Given the description of an element on the screen output the (x, y) to click on. 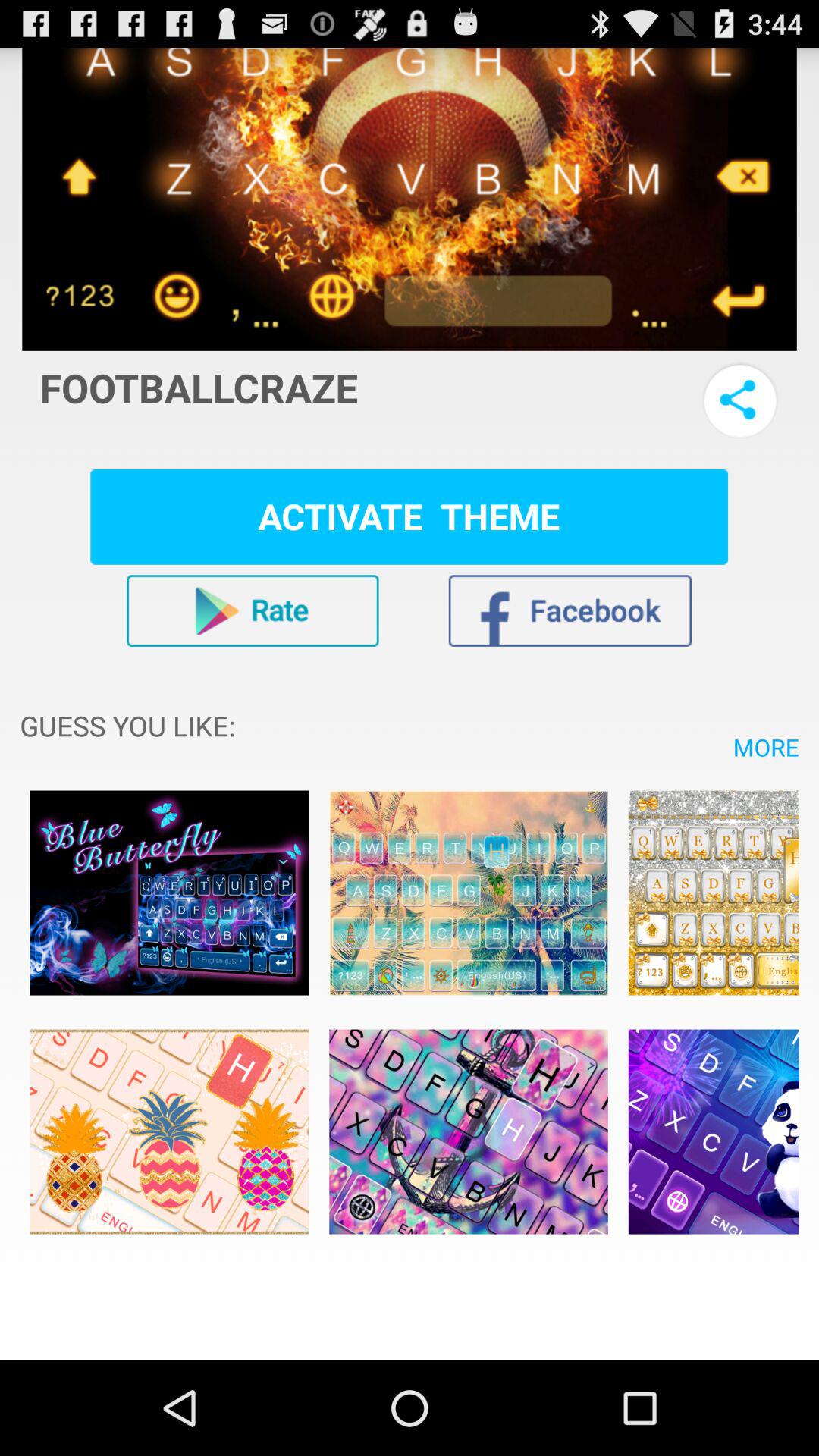
picture of more option (713, 892)
